Given the description of an element on the screen output the (x, y) to click on. 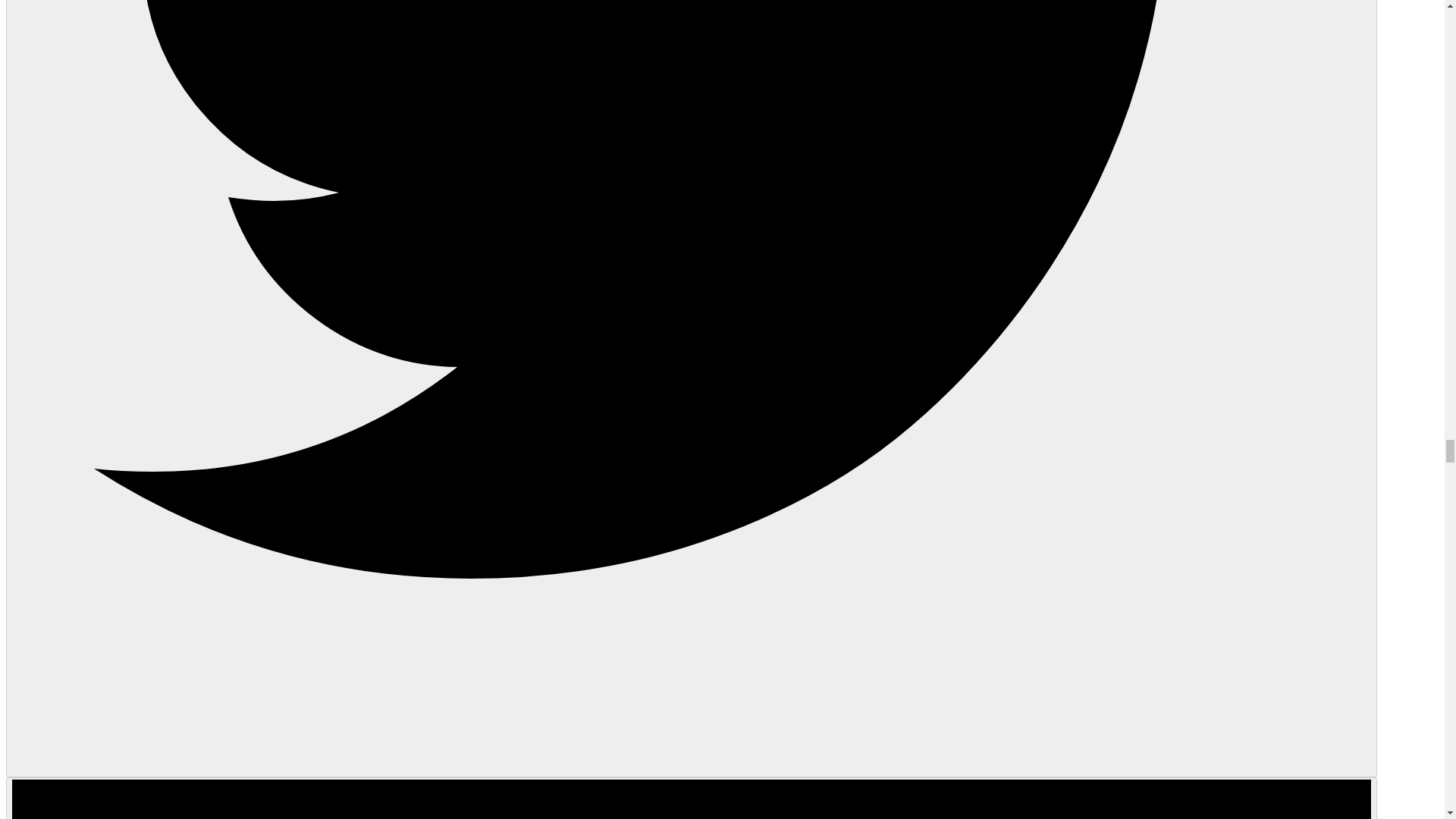
Share on Flipboard (691, 798)
